Given the description of an element on the screen output the (x, y) to click on. 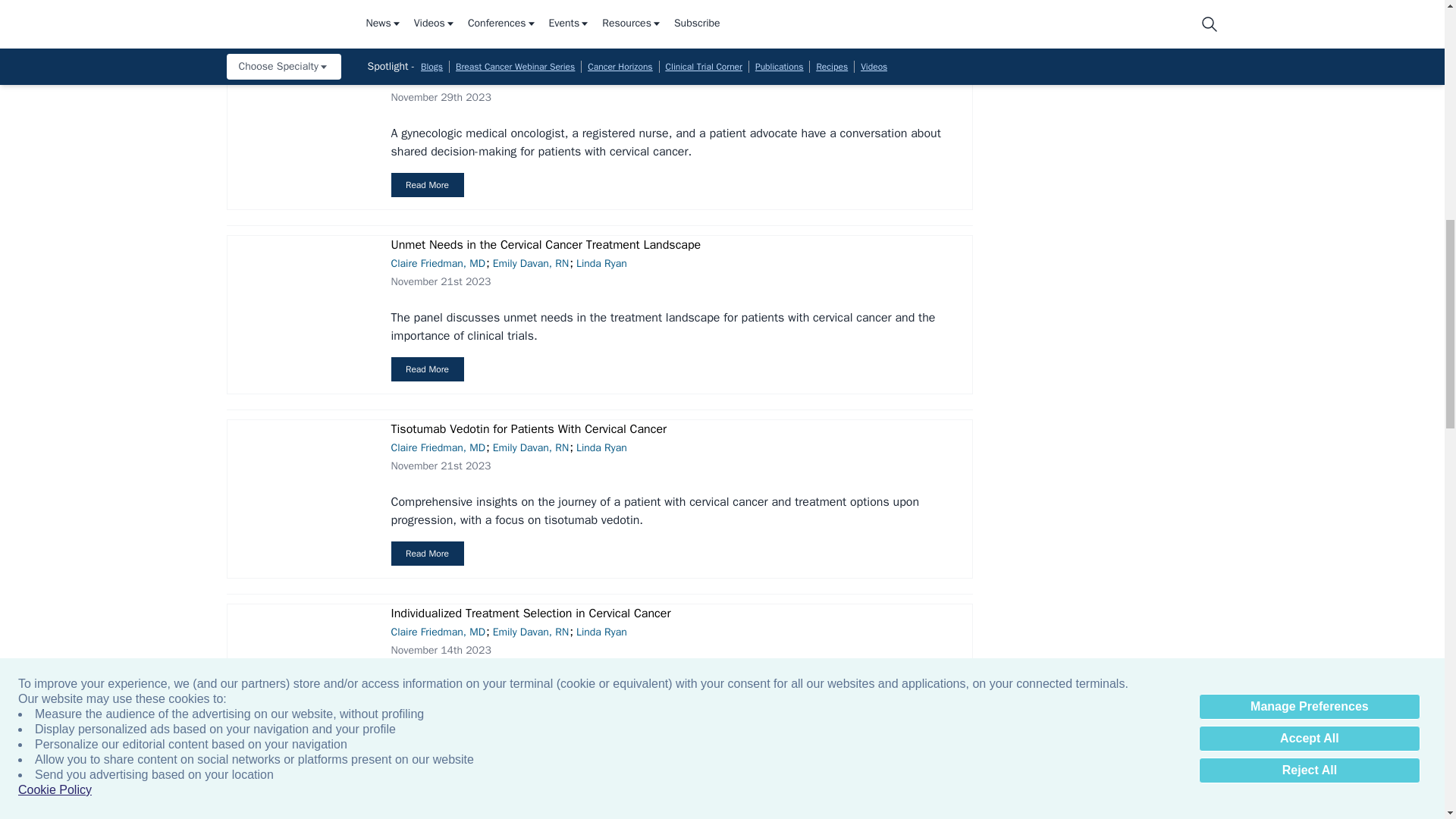
Linda Ryan, a patient advocate (299, 2)
